Given the description of an element on the screen output the (x, y) to click on. 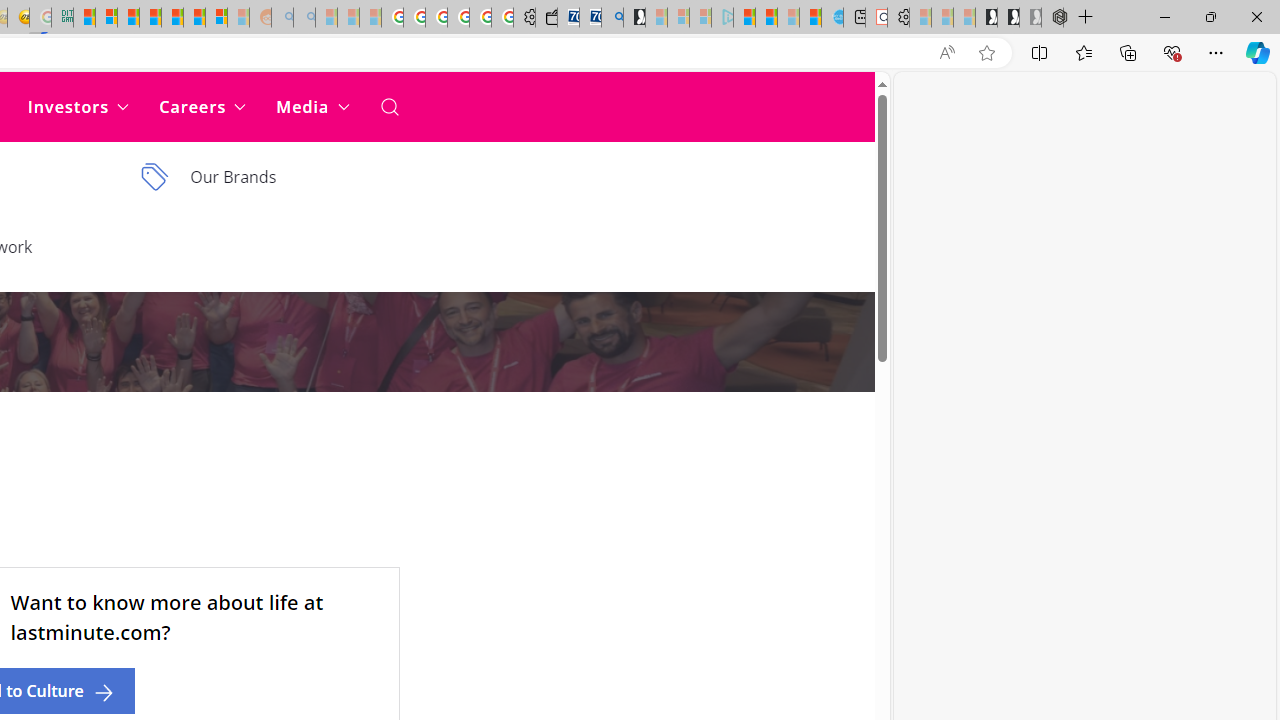
Microsoft Start Gaming (634, 17)
Microsoft account | Privacy - Sleeping (699, 17)
Home | Sky Blue Bikes - Sky Blue Bikes (832, 17)
Careers (202, 106)
Student Loan Update: Forgiveness Program Ends This Month (150, 17)
Our Brands (273, 177)
